Given the description of an element on the screen output the (x, y) to click on. 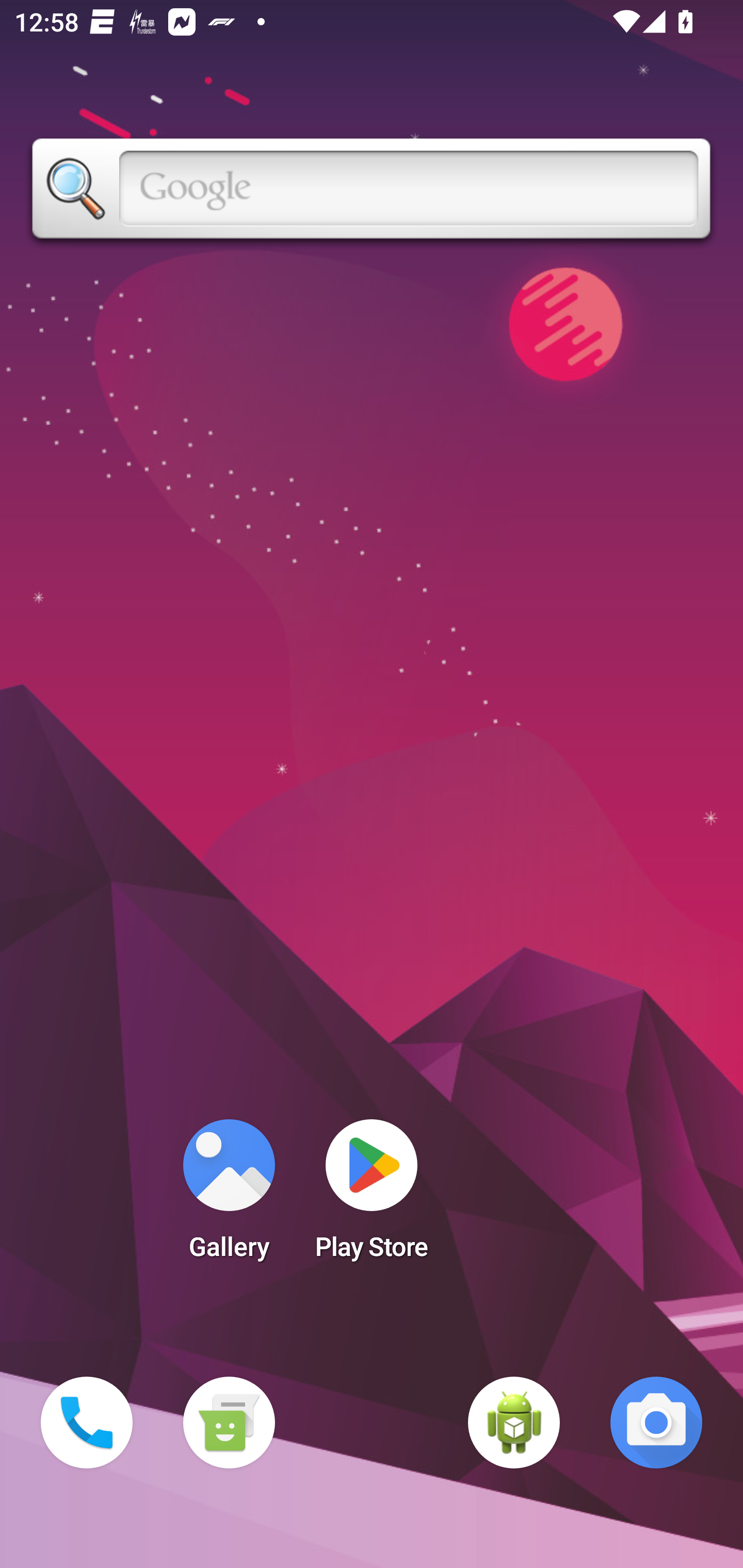
Gallery (228, 1195)
Play Store (371, 1195)
Phone (86, 1422)
Messaging (228, 1422)
WebView Browser Tester (513, 1422)
Camera (656, 1422)
